Given the description of an element on the screen output the (x, y) to click on. 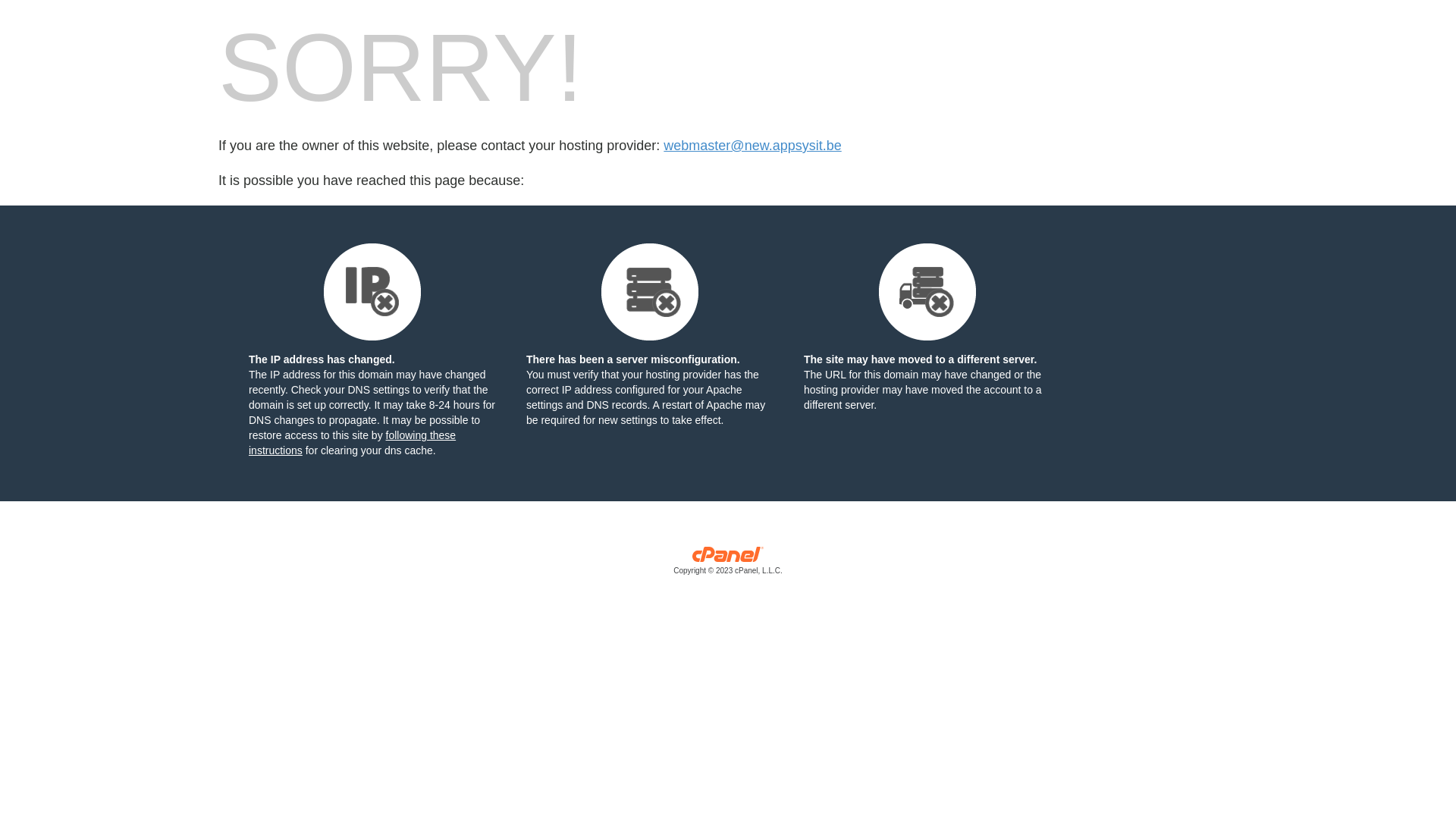
following these instructions Element type: text (351, 442)
webmaster@new.appsysit.be Element type: text (751, 145)
